Given the description of an element on the screen output the (x, y) to click on. 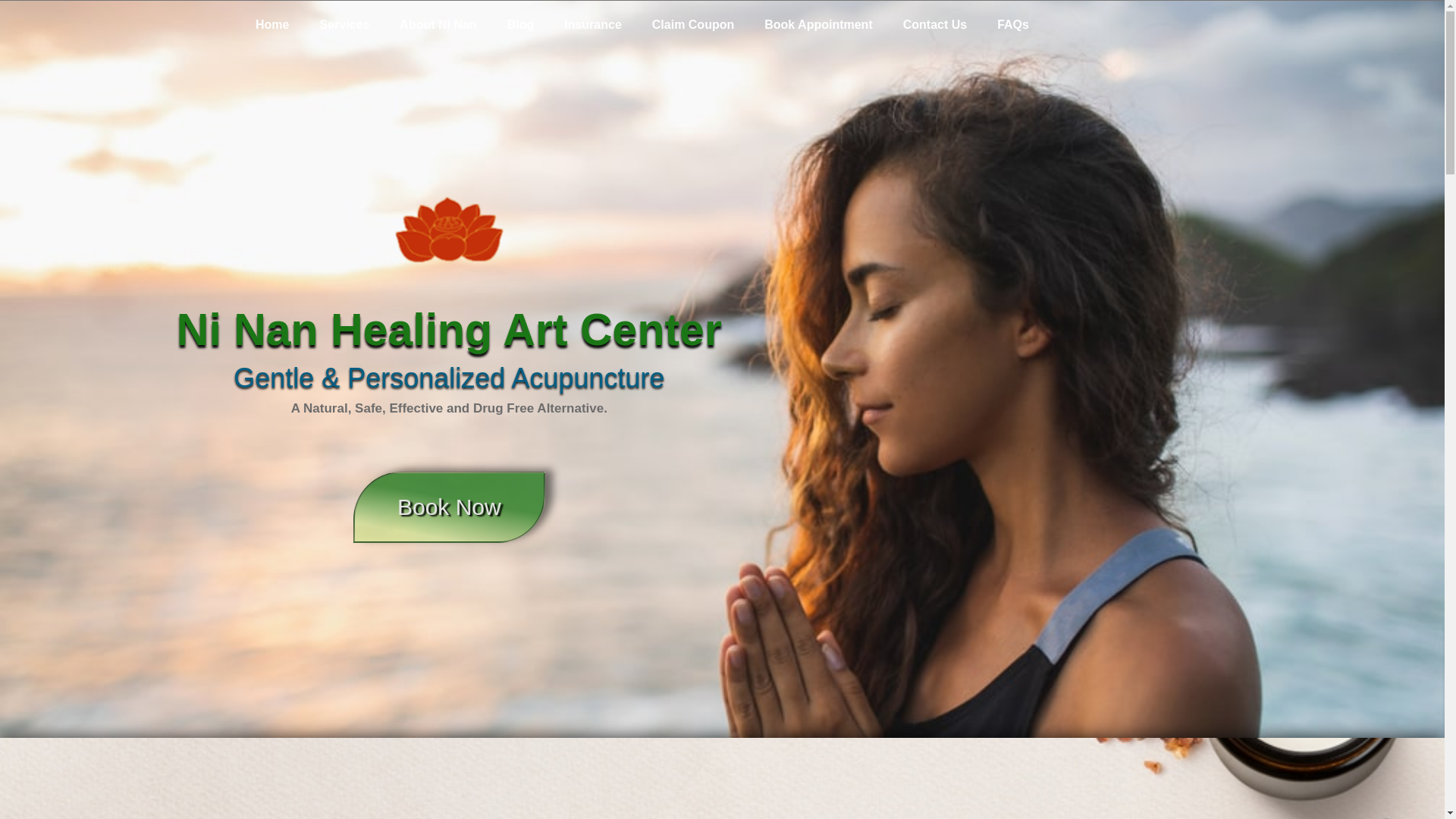
Acupuncture (587, 377)
Insurance (592, 24)
Services (344, 24)
Book Appointment (818, 24)
Book Now (448, 506)
About Ni Nan (438, 24)
CALL TODAY 516-442-7408 (1189, 26)
Healing (411, 329)
Claim Coupon (693, 24)
Blog (521, 24)
